Given the description of an element on the screen output the (x, y) to click on. 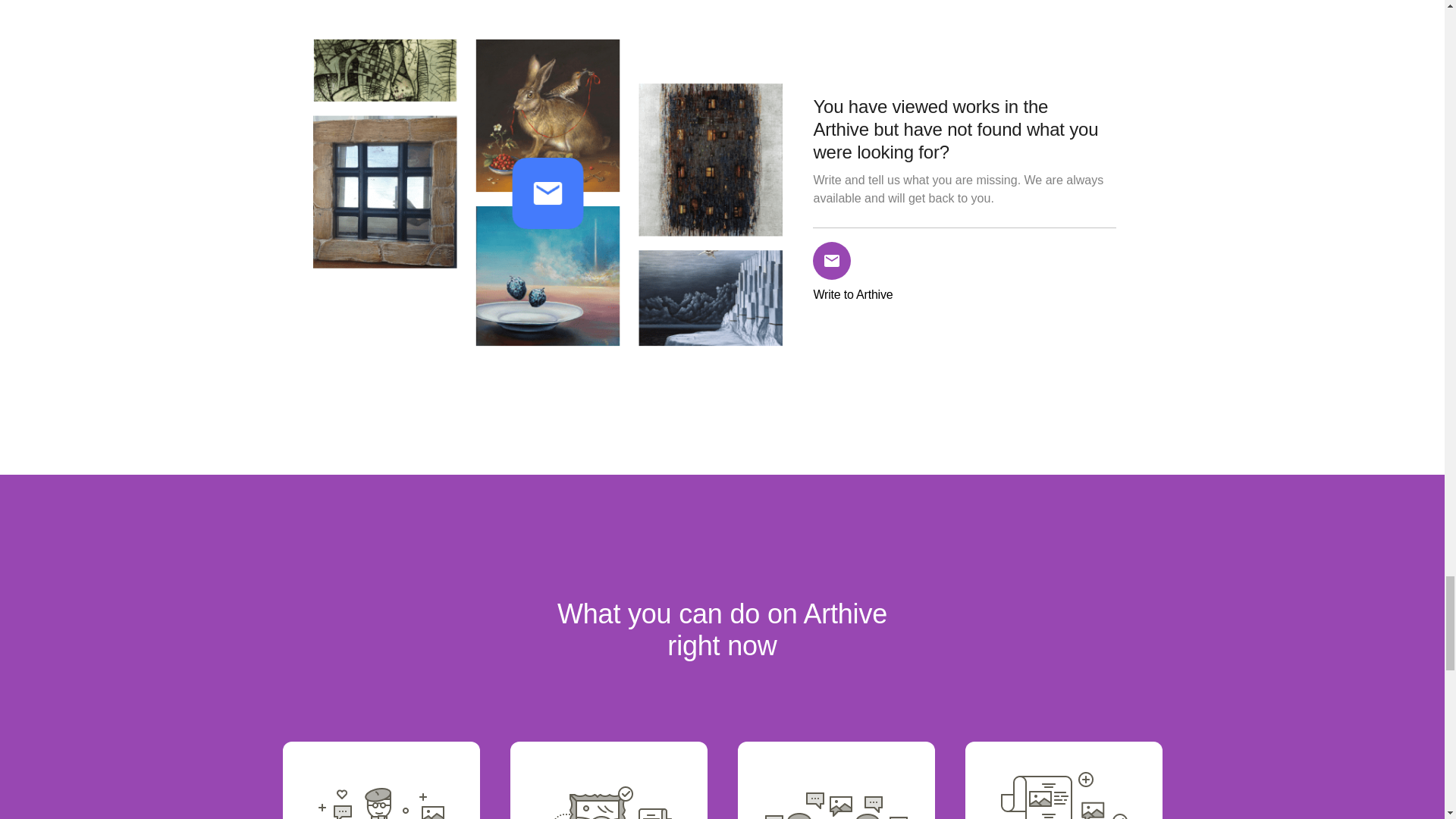
Write to Arthive (858, 271)
Manage your collection (607, 780)
Find people you know and friends (835, 780)
Put your artwork on sale (380, 780)
Post on your news feed (1062, 780)
